Given the description of an element on the screen output the (x, y) to click on. 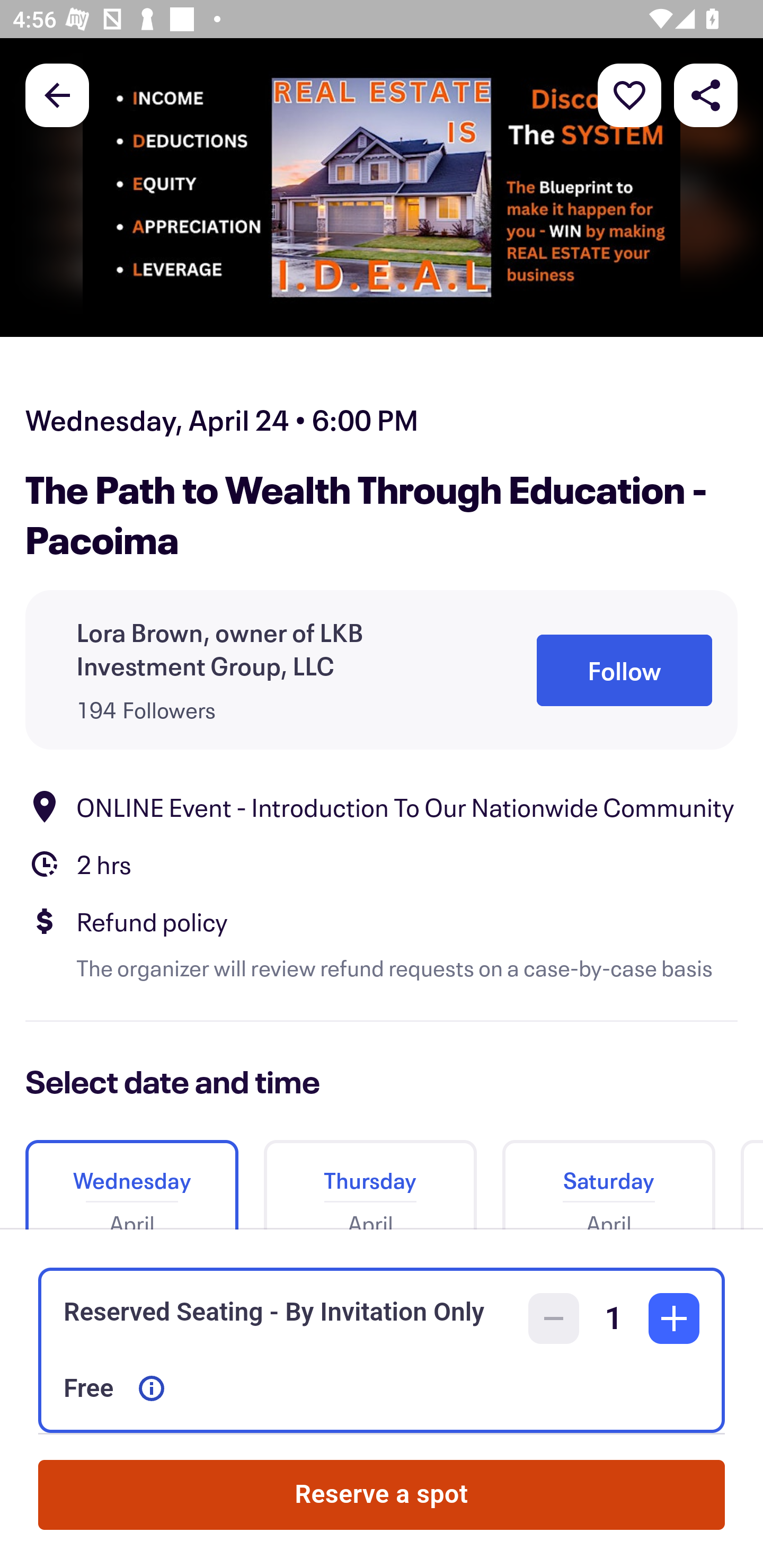
Back (57, 94)
More (629, 94)
Share (705, 94)
Lora Brown, owner of LKB Investment Group, LLC (281, 648)
Follow (623, 669)
Wednesday April (131, 1178)
Thursday April (370, 1178)
Saturday April (608, 1178)
